Given the description of an element on the screen output the (x, y) to click on. 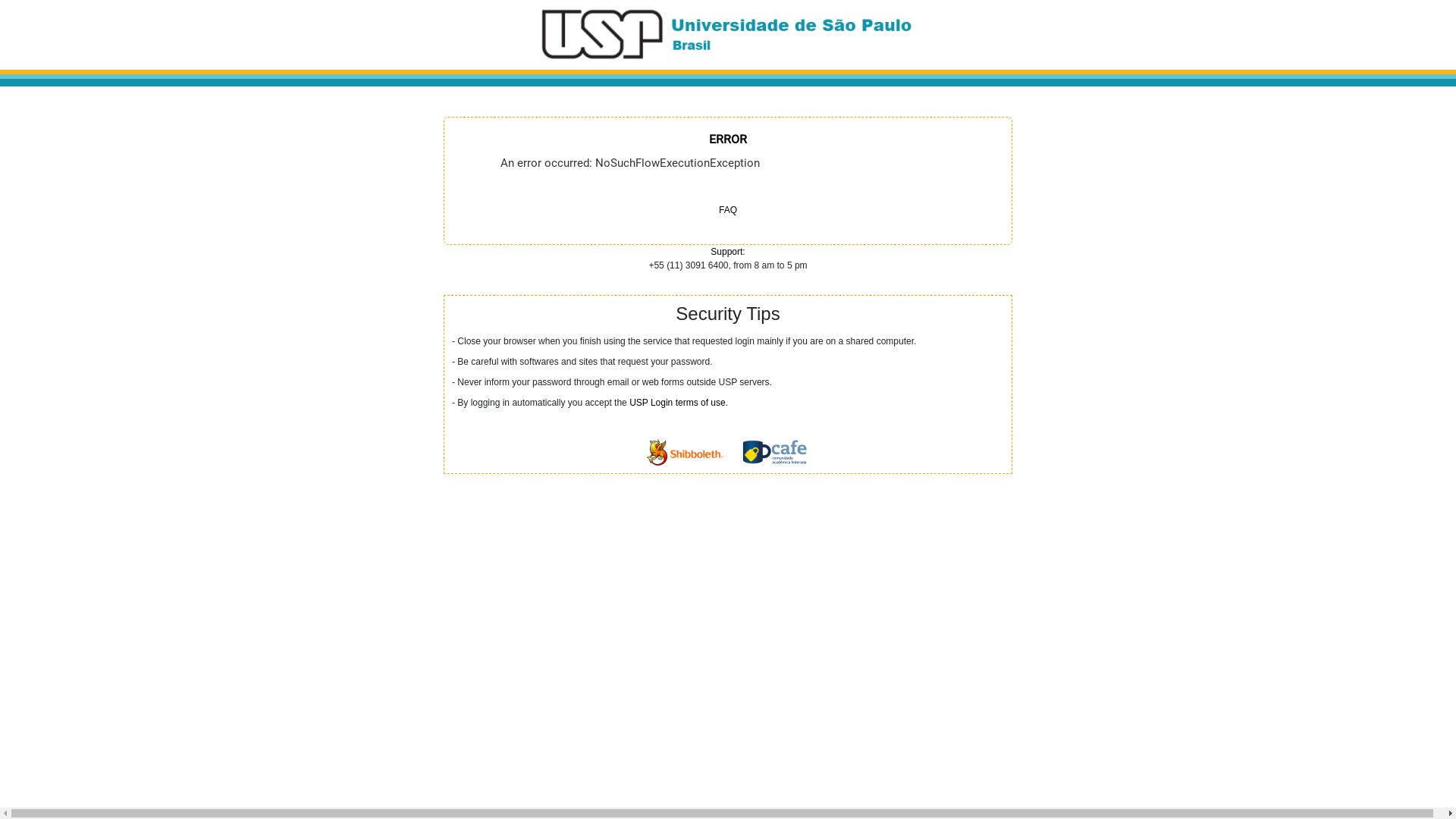
CAFe Element type: hover (774, 451)
Support: Element type: text (727, 251)
USP Login terms of use Element type: text (677, 402)
Shibboleth Element type: hover (684, 452)
FAQ Element type: text (727, 209)
